Given the description of an element on the screen output the (x, y) to click on. 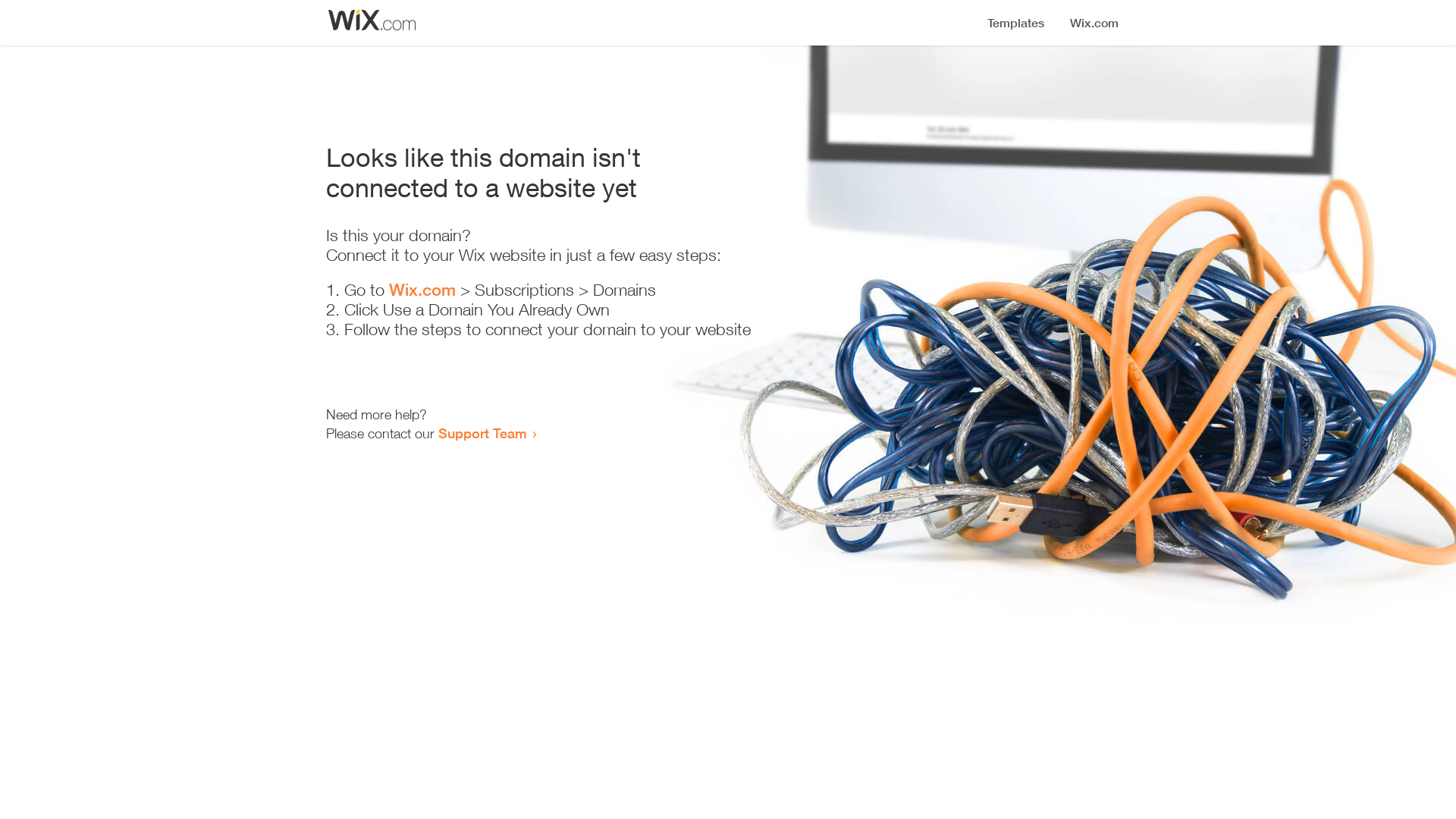
Wix.com Element type: text (422, 289)
Support Team Element type: text (482, 432)
